Given the description of an element on the screen output the (x, y) to click on. 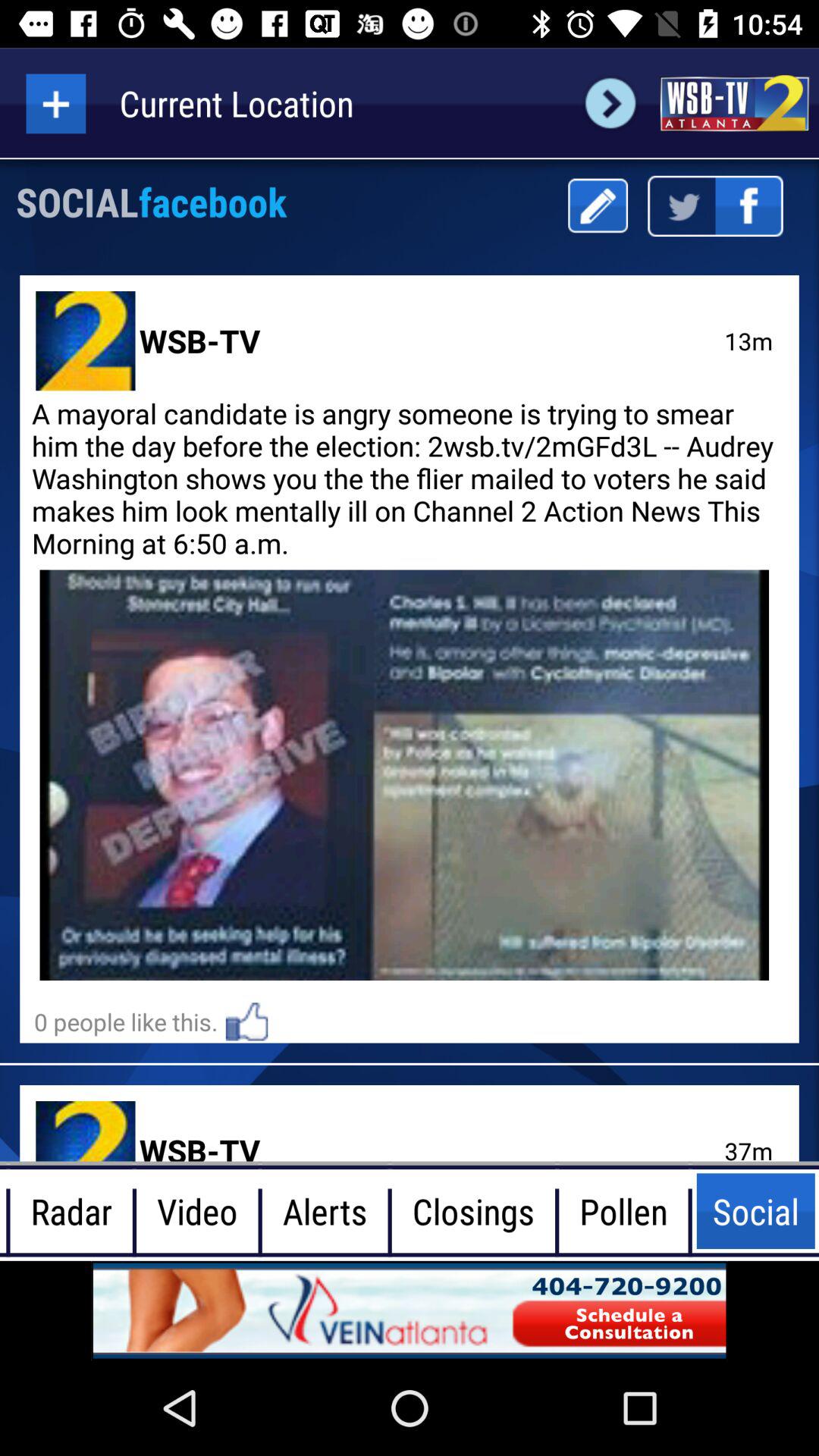
write button (597, 206)
